Given the description of an element on the screen output the (x, y) to click on. 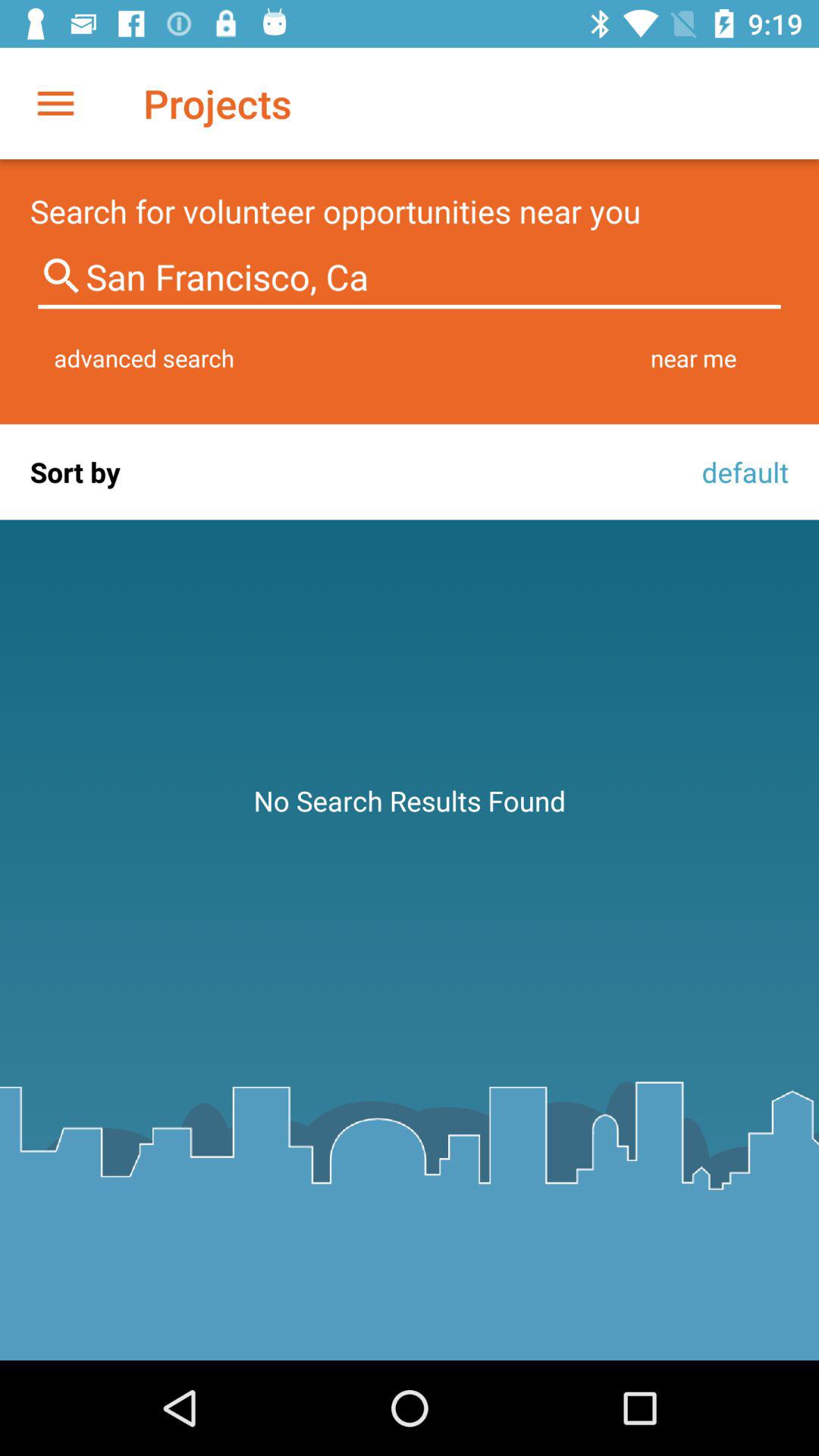
tap the item to the left of the projects (55, 103)
